Given the description of an element on the screen output the (x, y) to click on. 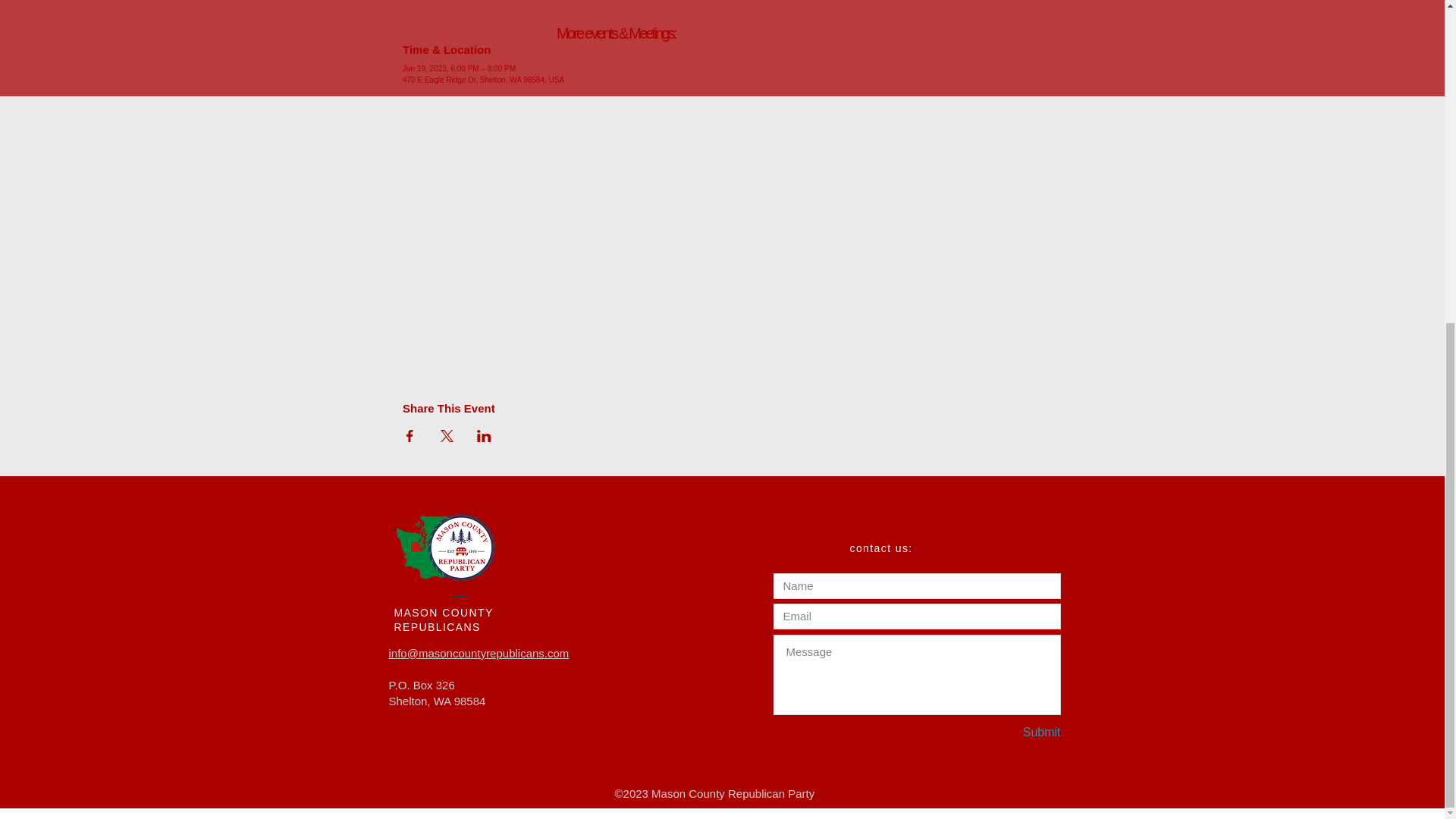
Submit (1007, 732)
